Given the description of an element on the screen output the (x, y) to click on. 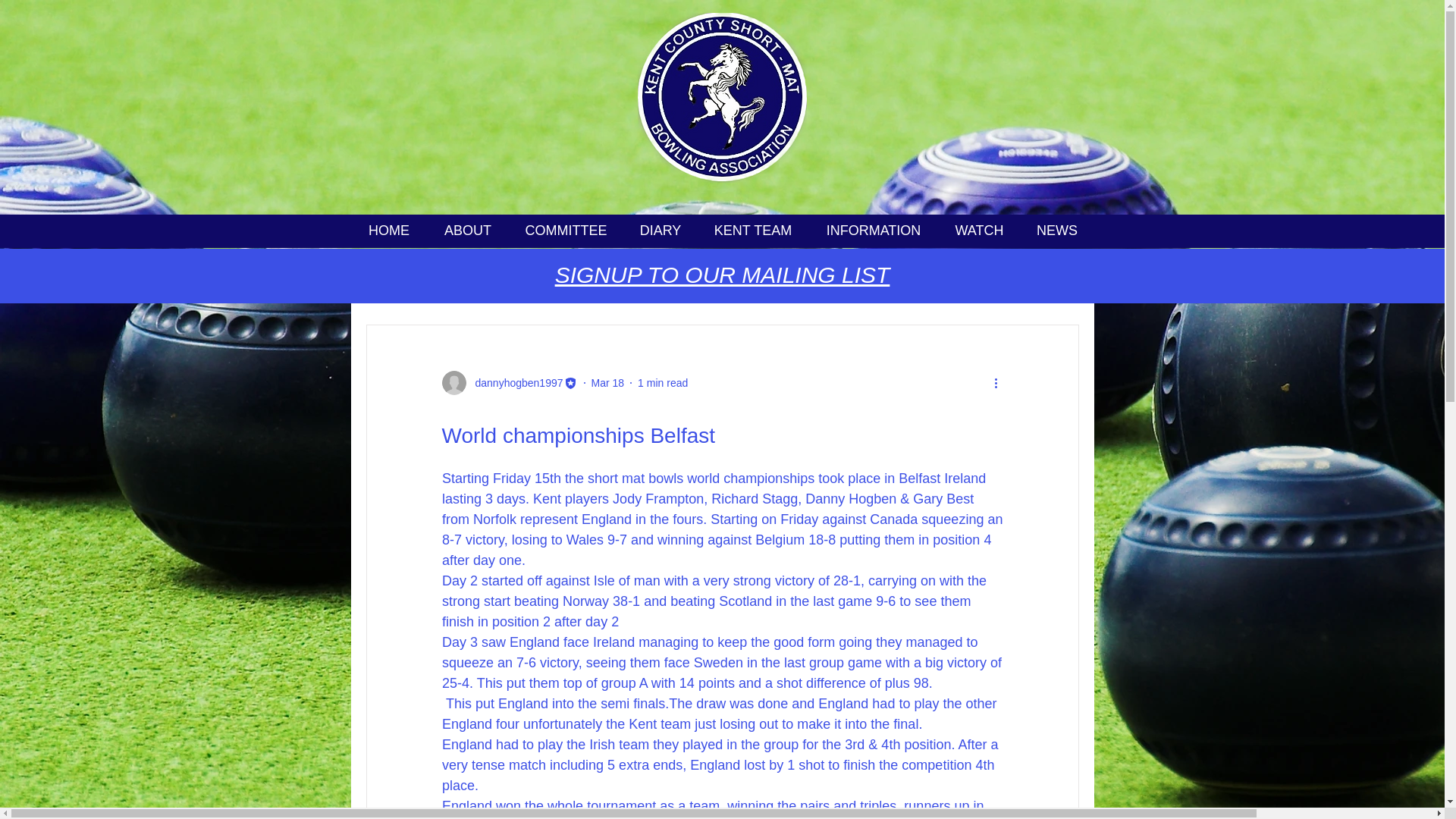
COMMITTEE (565, 230)
Copy of K2287 Kent County SMBA badge 21-11-2017.jpg (721, 97)
All Posts (385, 278)
DIARY (660, 230)
Mar 18 (607, 381)
WATCH (979, 230)
HOME (388, 230)
NEWS (1057, 230)
1 min read (662, 381)
dannyhogben1997 (513, 382)
KENT TEAM (753, 230)
